Given the description of an element on the screen output the (x, y) to click on. 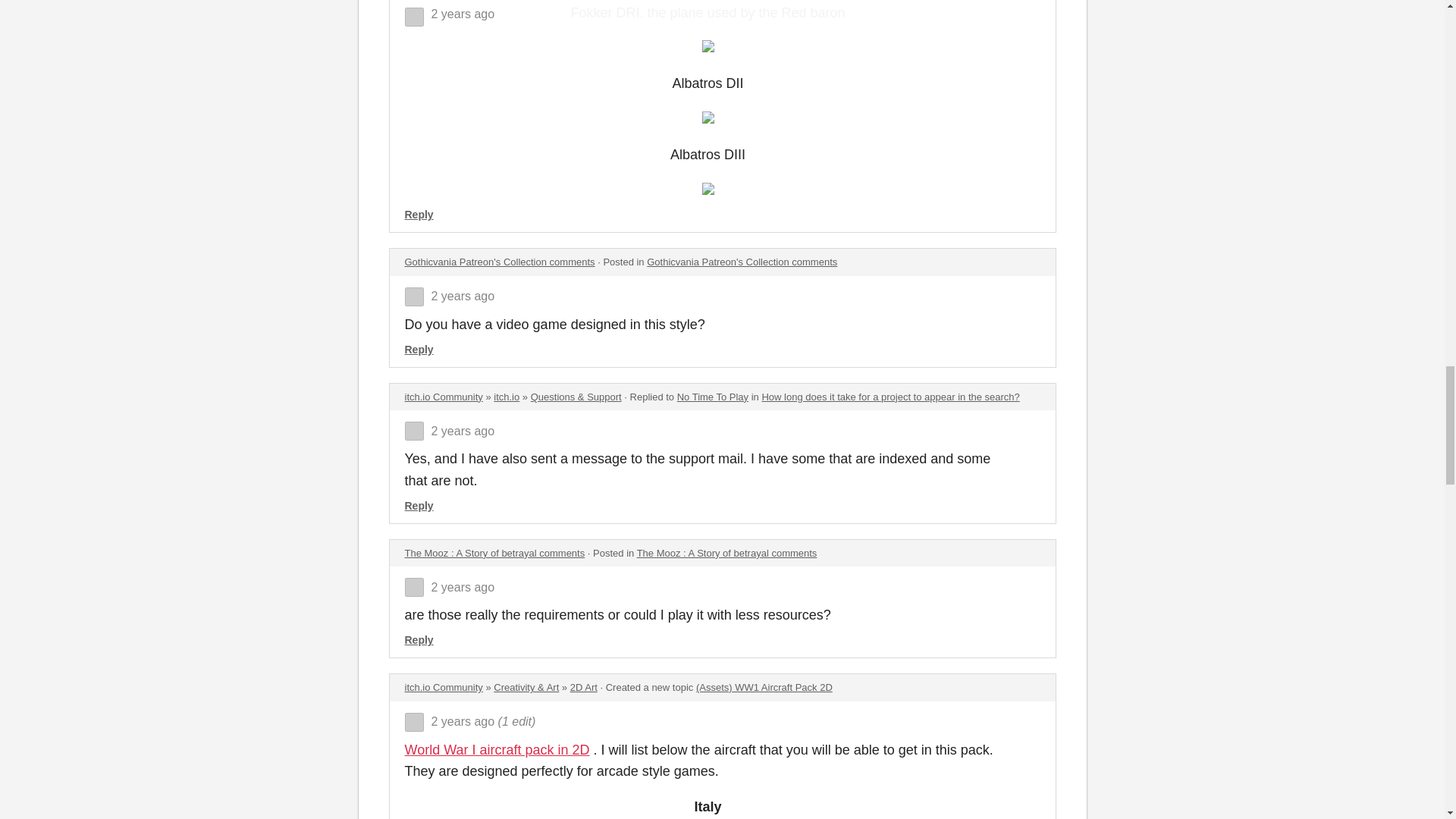
2022-04-19 07:20:35 (462, 431)
2022-04-18 01:36:29 (462, 721)
2022-04-19 02:45:10 (462, 586)
2022-04-19 07:28:13 (462, 295)
